Given the description of an element on the screen output the (x, y) to click on. 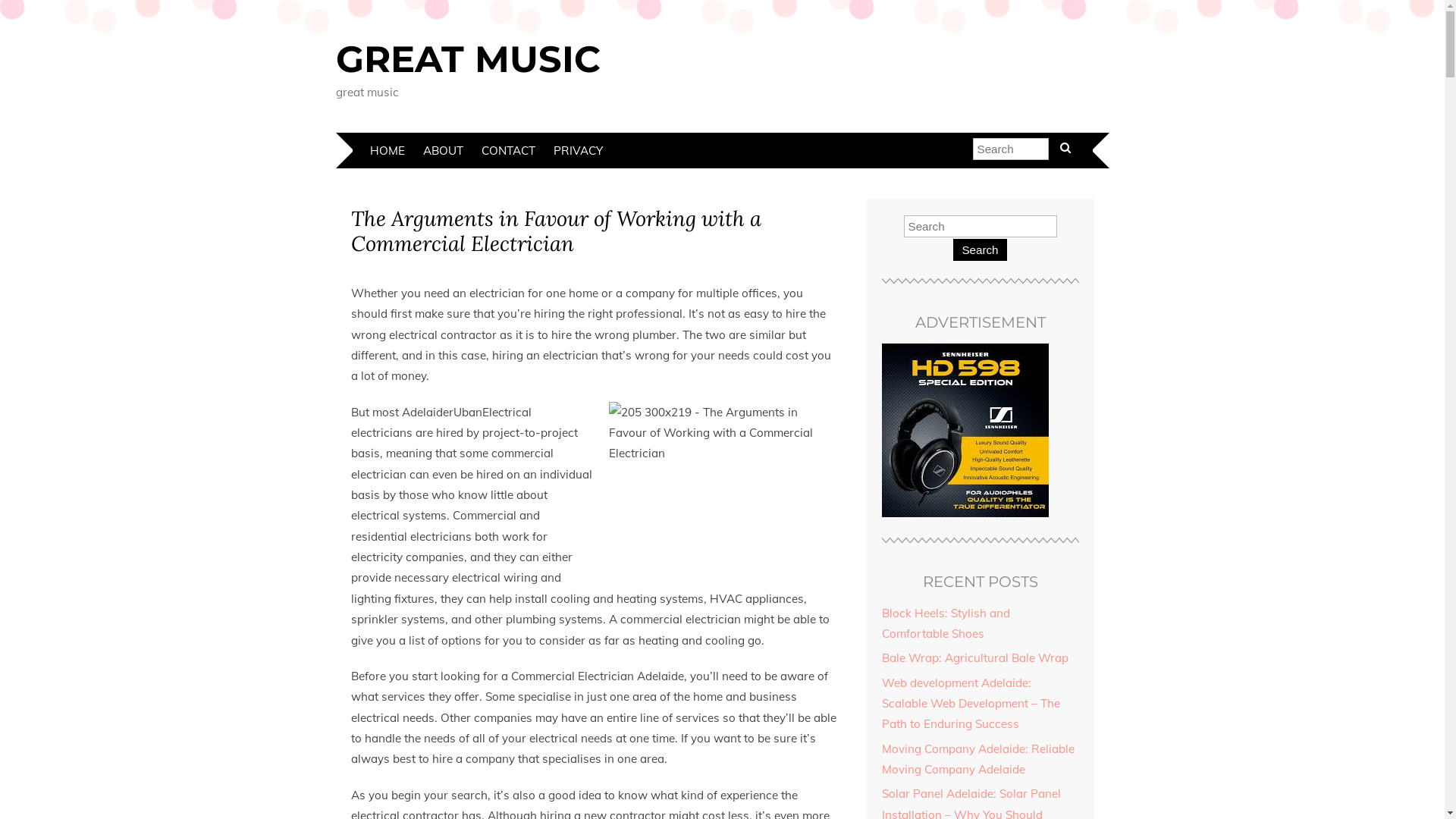
CONTACT Element type: text (507, 150)
Block Heels: Stylish and Comfortable Shoes Element type: text (945, 622)
Search Element type: text (979, 249)
Bale Wrap: Agricultural Bale Wrap Element type: text (974, 657)
HOME Element type: text (387, 150)
ABOUT Element type: text (442, 150)
PRIVACY Element type: text (578, 150)
GREAT MUSIC Element type: text (467, 59)
Moving Company Adelaide: Reliable Moving Company Adelaide Element type: text (977, 758)
